Given the description of an element on the screen output the (x, y) to click on. 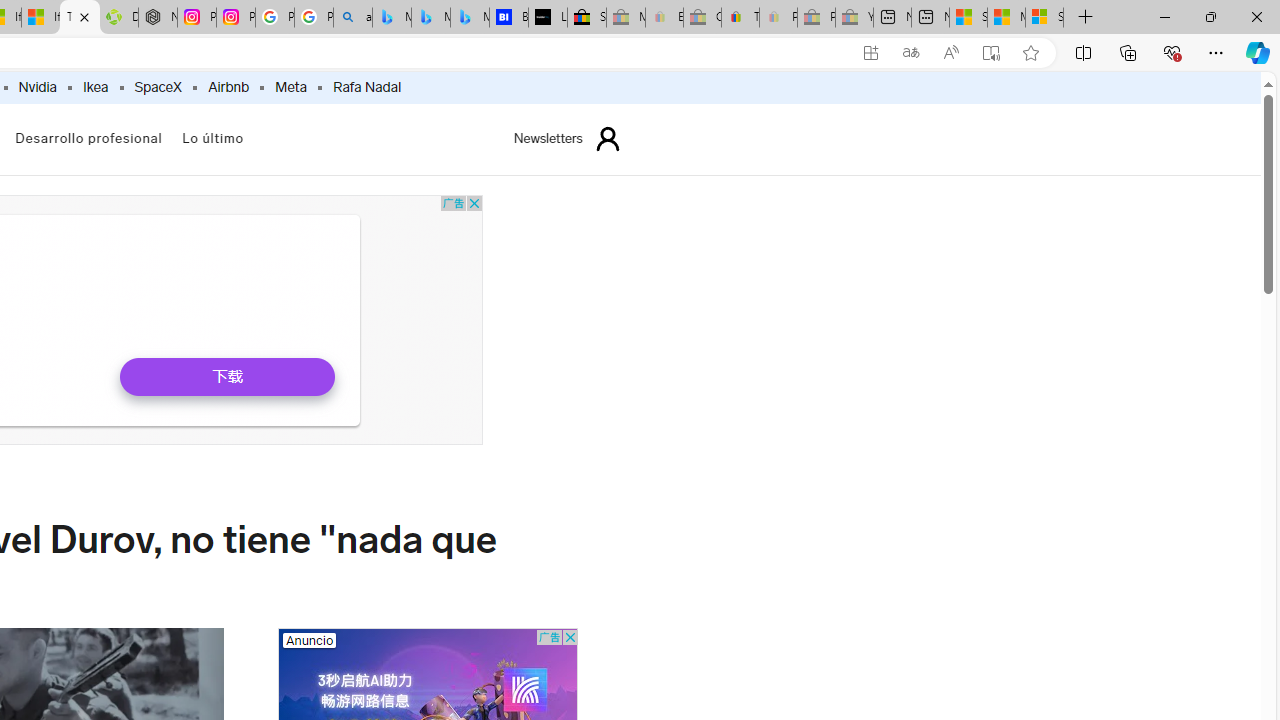
Nordace - Nordace Edin Collection (157, 17)
Desarrollo profesional (88, 138)
alabama high school quarterback dies - Search (353, 17)
Shanghai, China hourly forecast | Microsoft Weather (967, 17)
Rafa Nadal (366, 88)
